Given the description of an element on the screen output the (x, y) to click on. 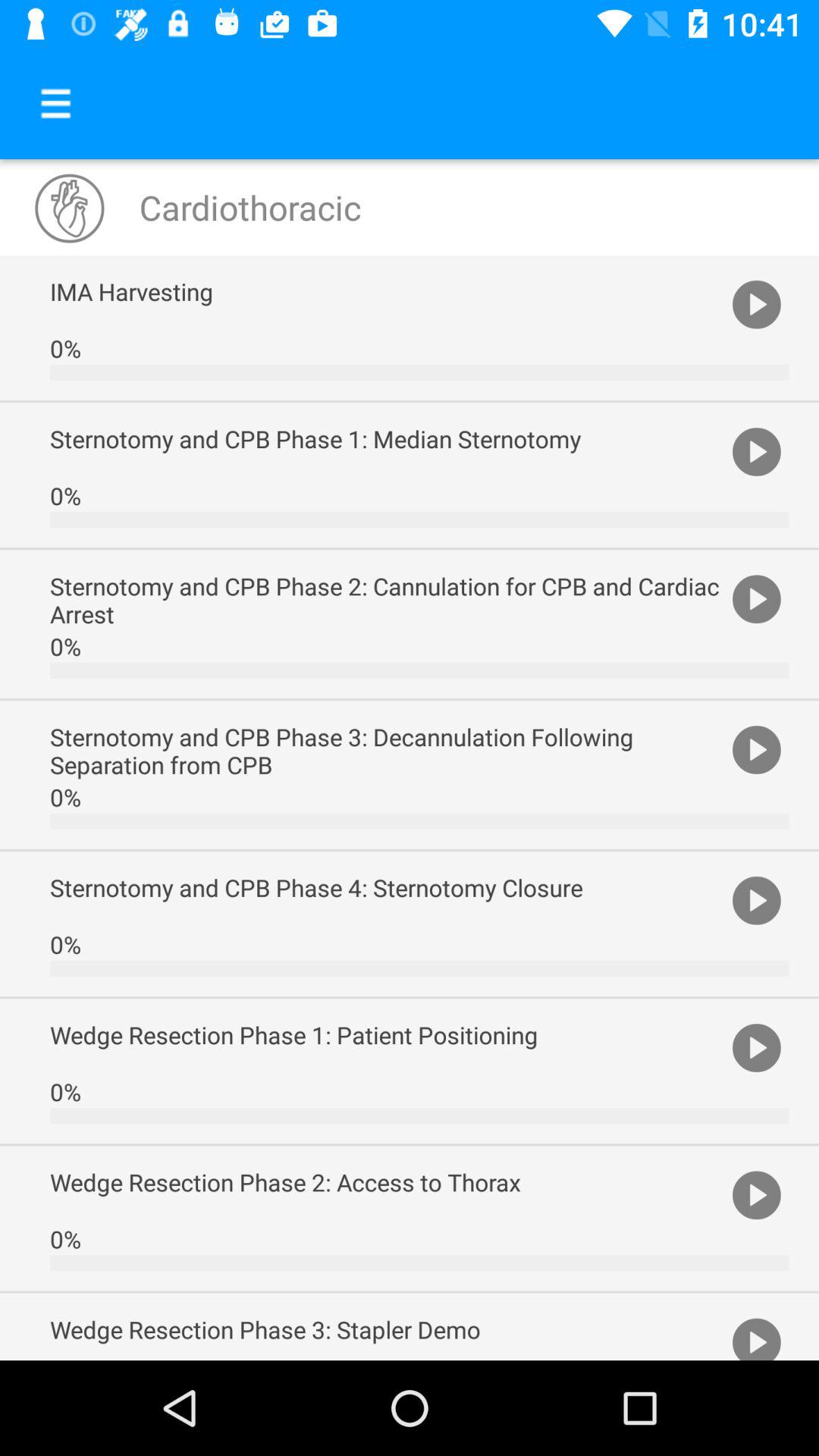
turn on item to the right of sternotomy and cpb (756, 450)
